Given the description of an element on the screen output the (x, y) to click on. 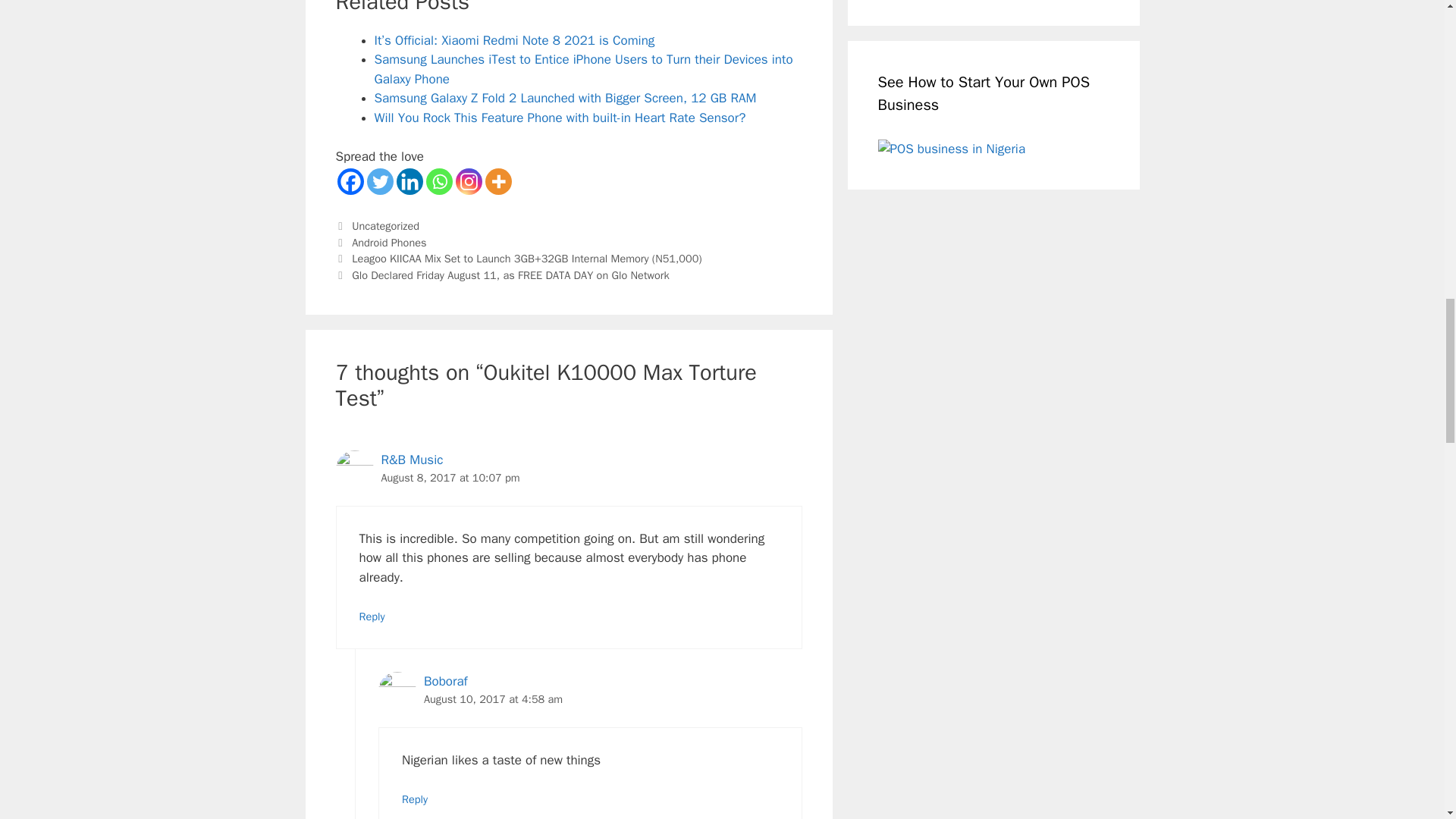
Linkedin (409, 181)
Facebook (349, 181)
Reply (414, 798)
Boboraf (445, 681)
Uncategorized (385, 225)
August 10, 2017 at 4:58 am (492, 698)
Twitter (379, 181)
Android Phones (389, 242)
Reply (372, 616)
Instagram (467, 181)
August 8, 2017 at 10:07 pm (449, 477)
